Given the description of an element on the screen output the (x, y) to click on. 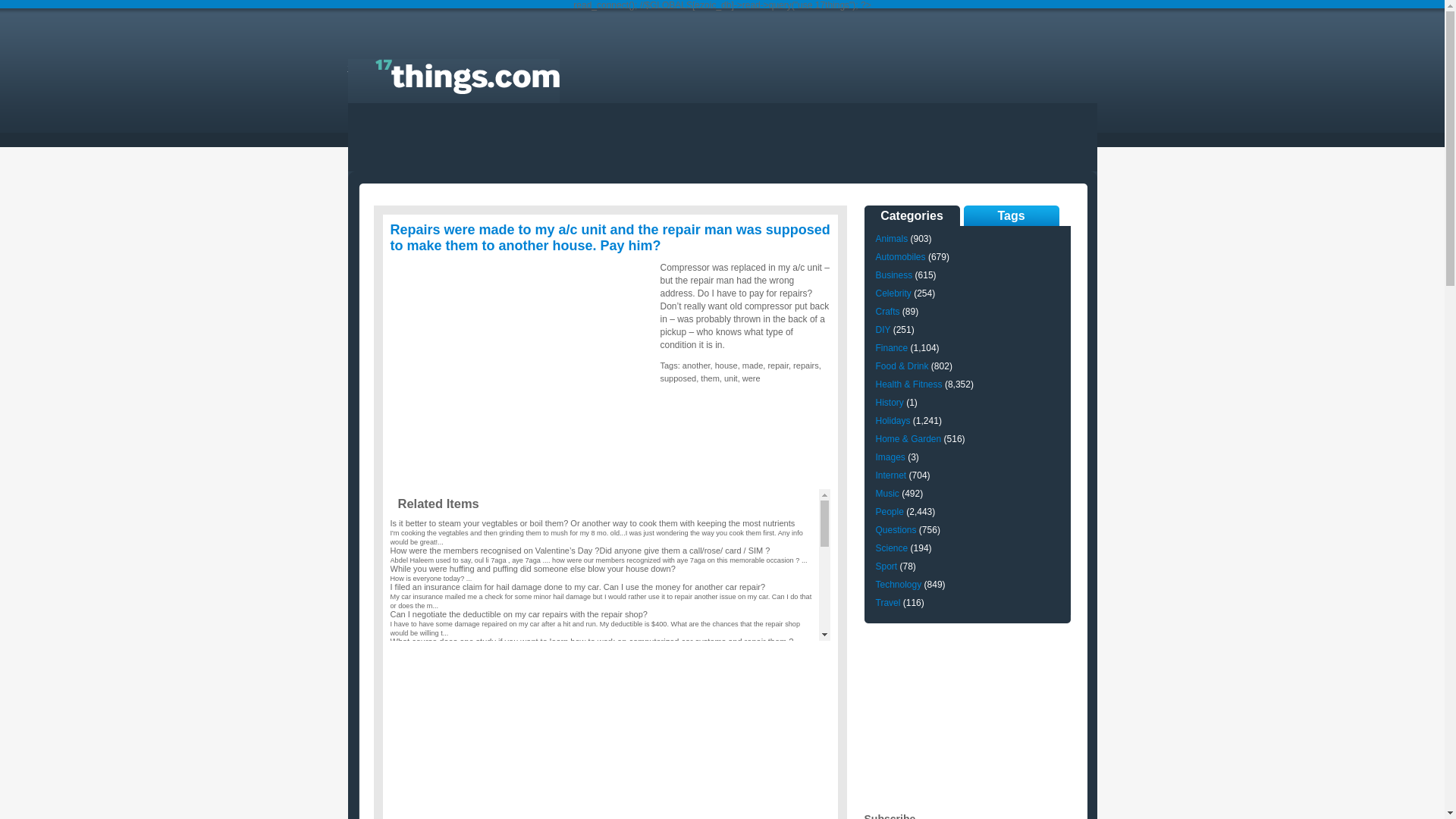
house Element type: text (726, 365)
repair Element type: text (777, 365)
Images Element type: text (889, 449)
Travel Element type: text (887, 594)
Food & Drink Element type: text (901, 358)
Celebrity Element type: text (892, 285)
Internet Element type: text (890, 467)
were Element type: text (751, 377)
supposed Element type: text (677, 377)
People Element type: text (889, 503)
Automobiles Element type: text (900, 249)
Animals Element type: text (891, 230)
History Element type: text (889, 394)
Health & Fitness Element type: text (908, 376)
Sport Element type: text (886, 558)
Categories Element type: text (912, 215)
Home & Garden Element type: text (908, 431)
Do new car dealer repair shop rig future repairs? Element type: text (479, 668)
them Element type: text (709, 377)
Business Element type: text (893, 267)
Tags Element type: text (1010, 215)
Technology Element type: text (898, 576)
Music Element type: text (886, 485)
Holidays Element type: text (892, 412)
DIY Element type: text (882, 321)
Crafts Element type: text (887, 303)
Finance Element type: text (891, 340)
How do I transfer some software from one pc to another? Element type: text (494, 777)
unit Element type: text (730, 377)
another Element type: text (696, 365)
Science Element type: text (891, 540)
repairs Element type: text (806, 365)
made Element type: text (752, 365)
Questions Element type: text (895, 522)
